Given the description of an element on the screen output the (x, y) to click on. 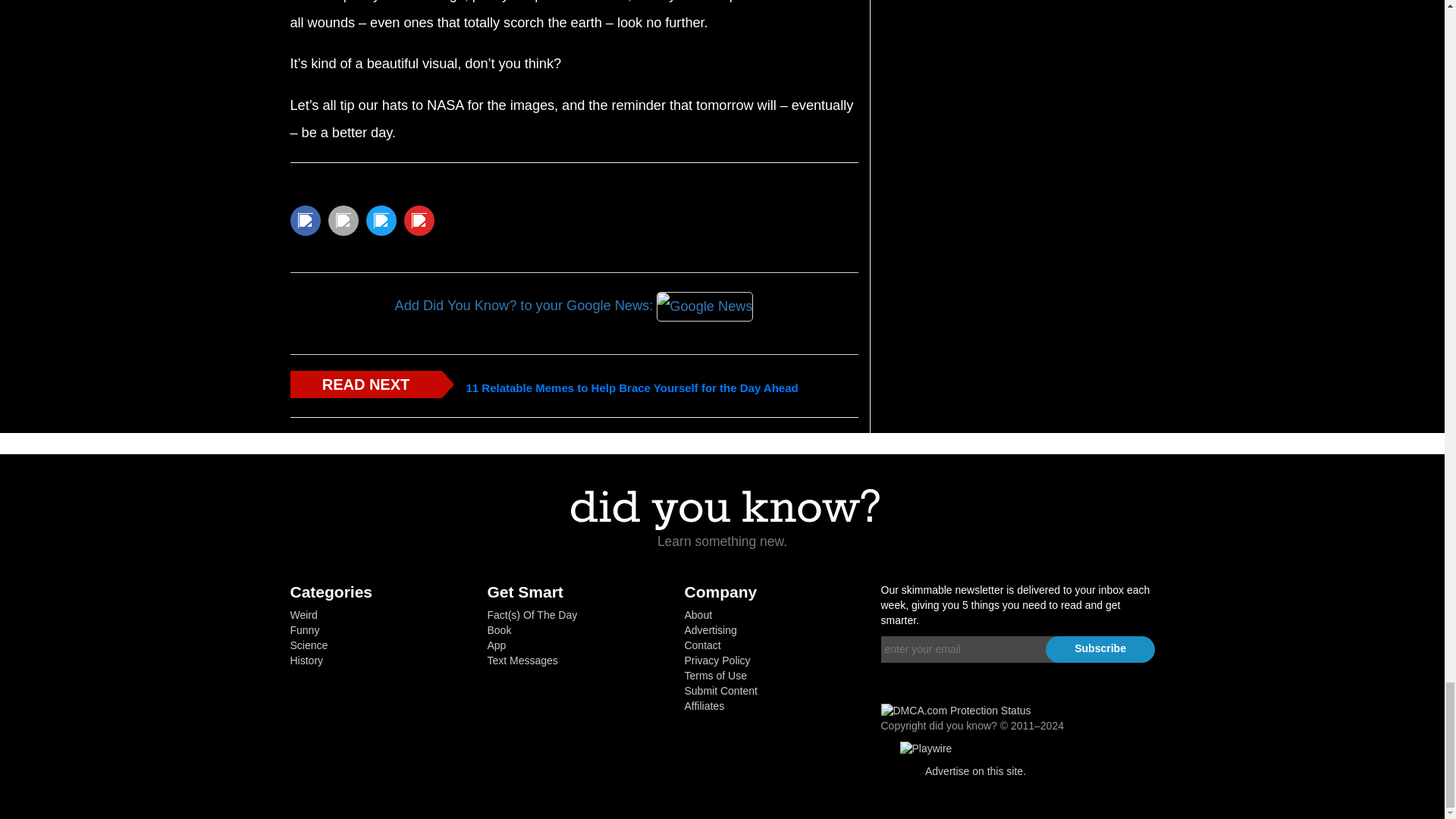
Google News (704, 306)
Subscribe (1100, 649)
DMCA.com Protection Status (955, 710)
11 Relatable Memes to Help Brace Yourself for the Day Ahead (631, 388)
